Given the description of an element on the screen output the (x, y) to click on. 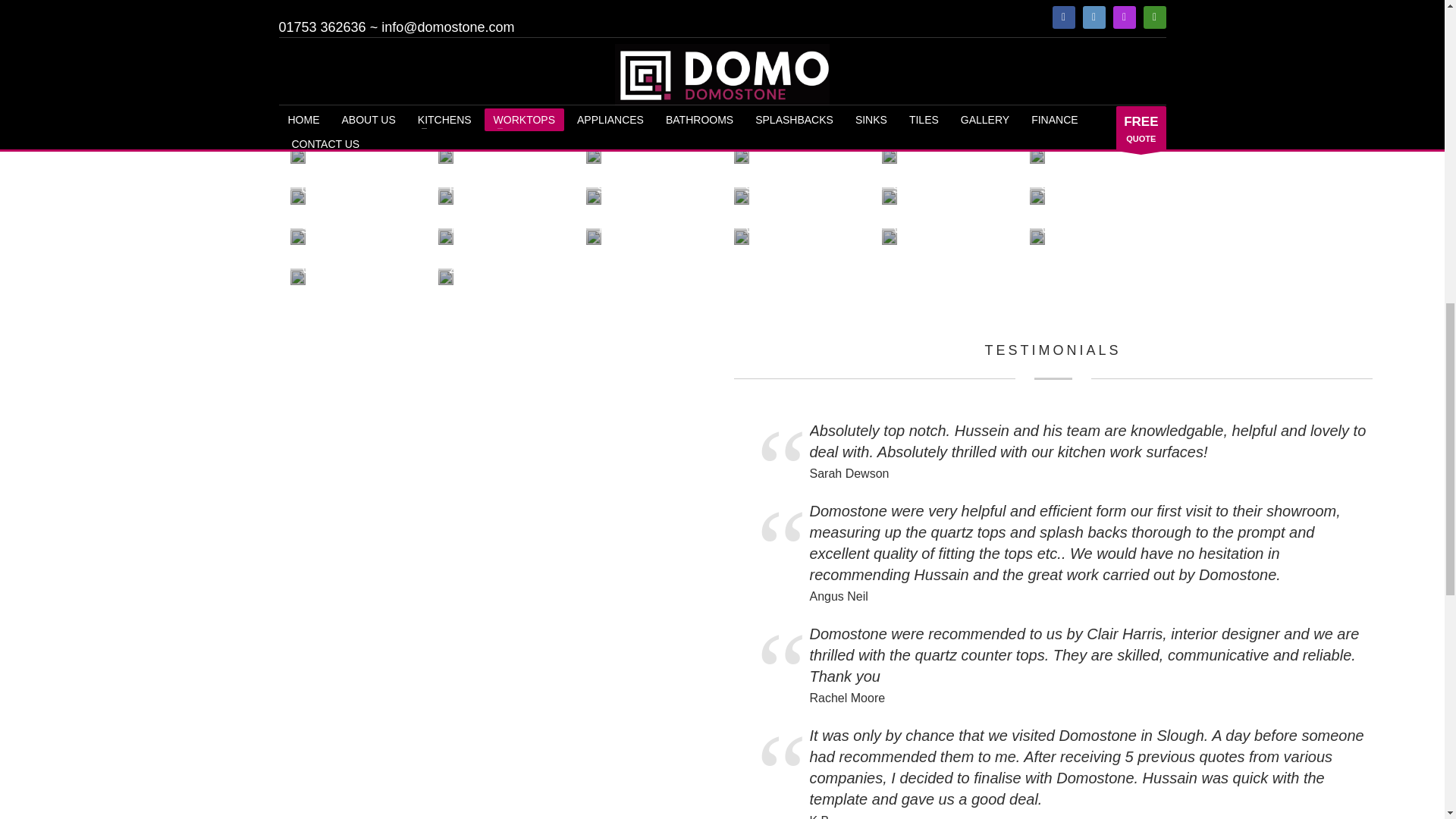
Blaze (741, 1)
Danae (1037, 1)
Aura (445, 1)
Blanc Concrete (592, 1)
Aldem (296, 1)
Borea (888, 1)
